Given the description of an element on the screen output the (x, y) to click on. 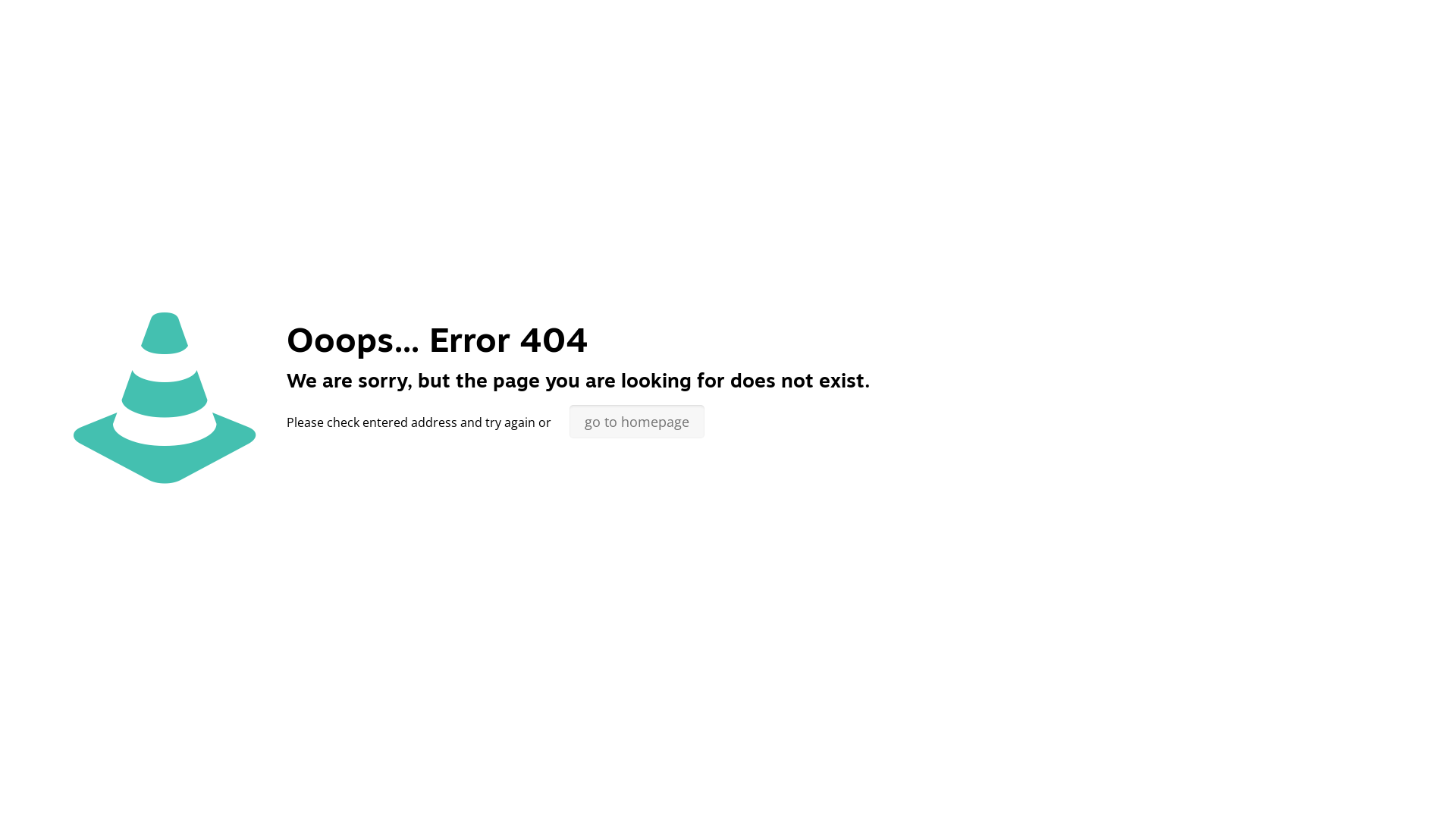
go to homepage Element type: text (636, 421)
